Given the description of an element on the screen output the (x, y) to click on. 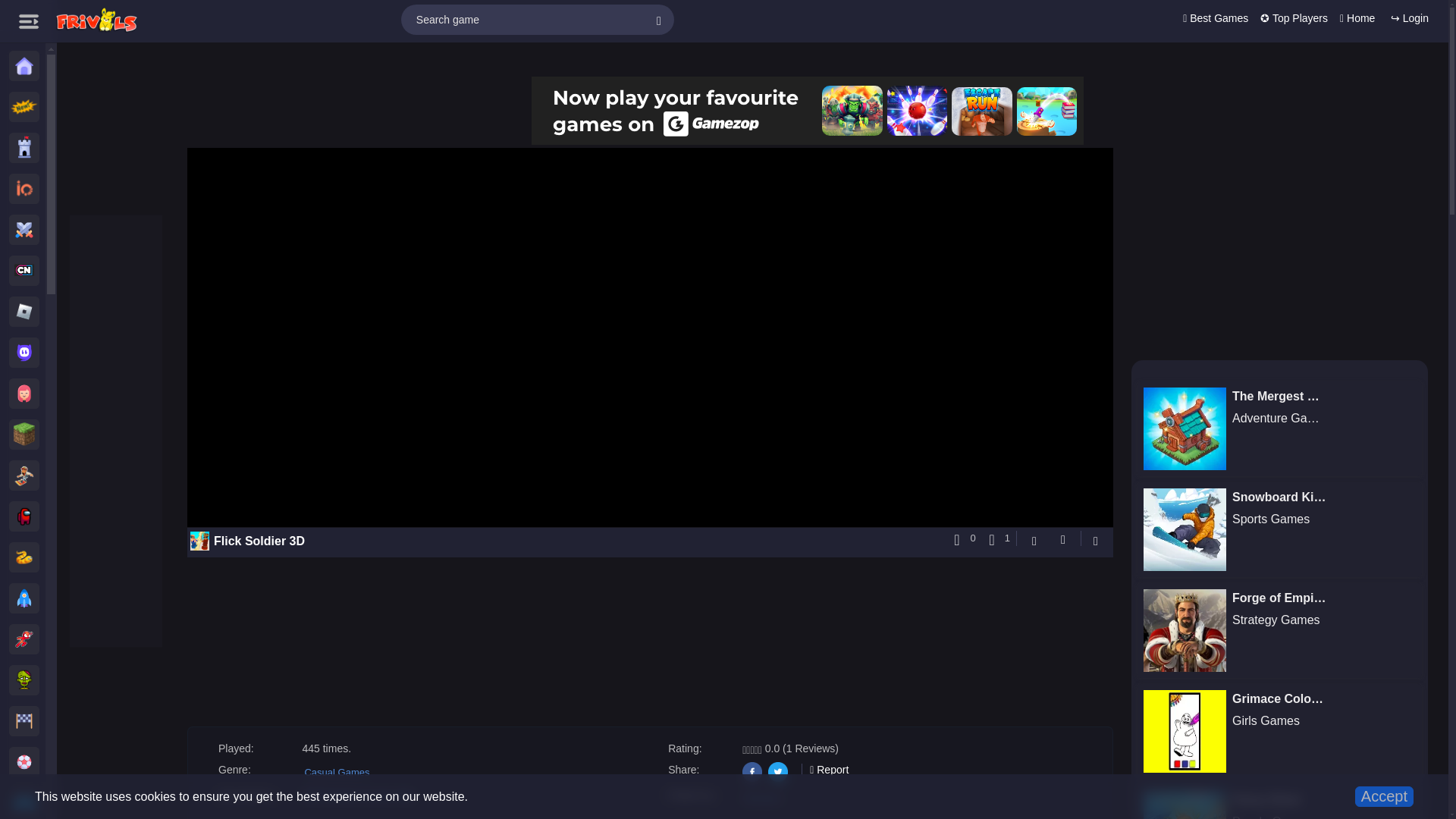
Strategy Games (28, 147)
Add Games to your site (356, 795)
Play  Flick Soldier 3D on Browser (762, 798)
2 player Games (28, 799)
Cartoon Network Games (28, 270)
Girls Games (28, 393)
New Games (28, 106)
Minecraft Games (28, 434)
Subway Surfers Games (28, 474)
Casual Games (28, 597)
